Given the description of an element on the screen output the (x, y) to click on. 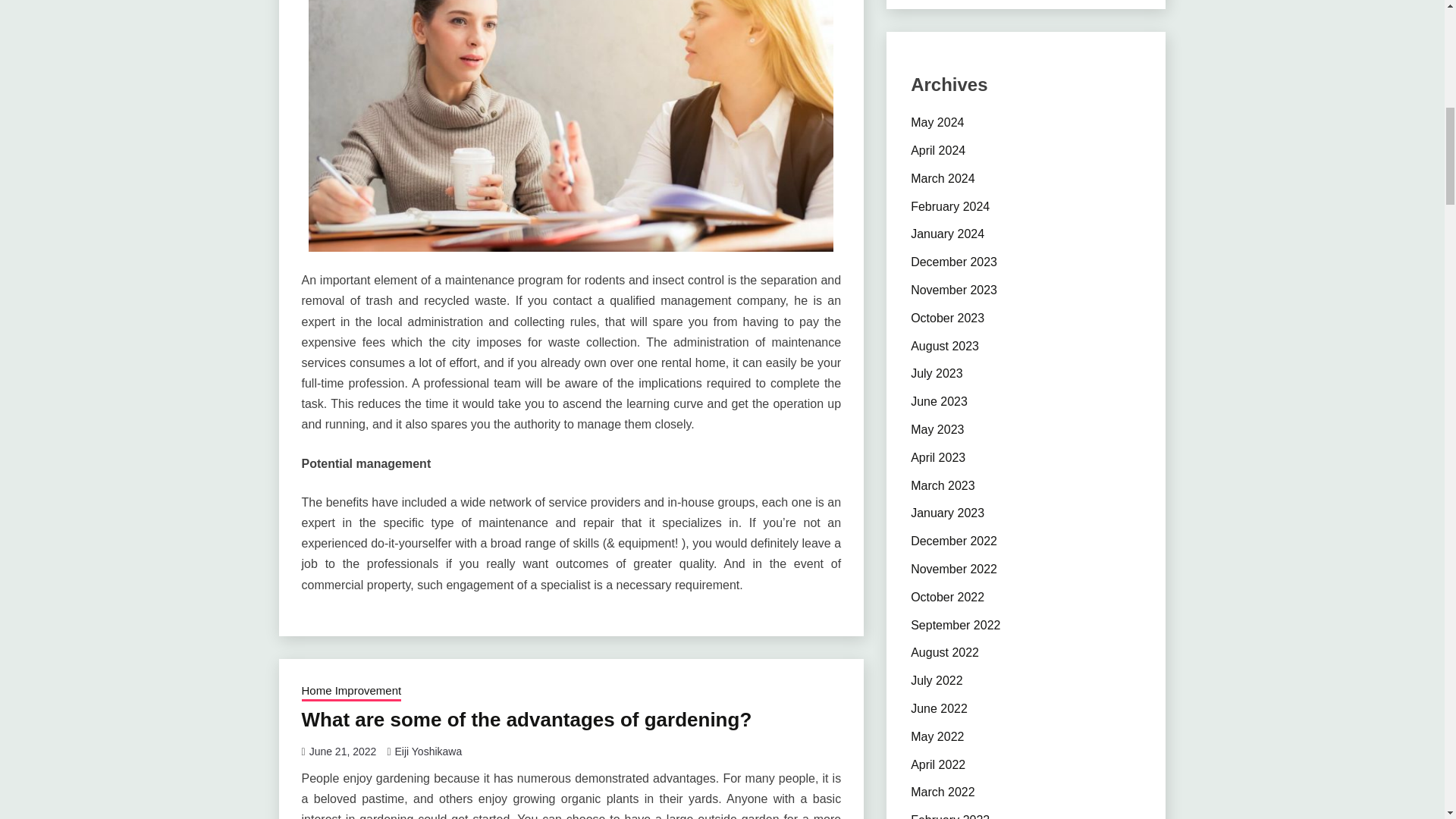
Home Improvement (351, 691)
June 21, 2022 (342, 751)
What are some of the advantages of gardening? (526, 719)
Eiji Yoshikawa (427, 751)
